Given the description of an element on the screen output the (x, y) to click on. 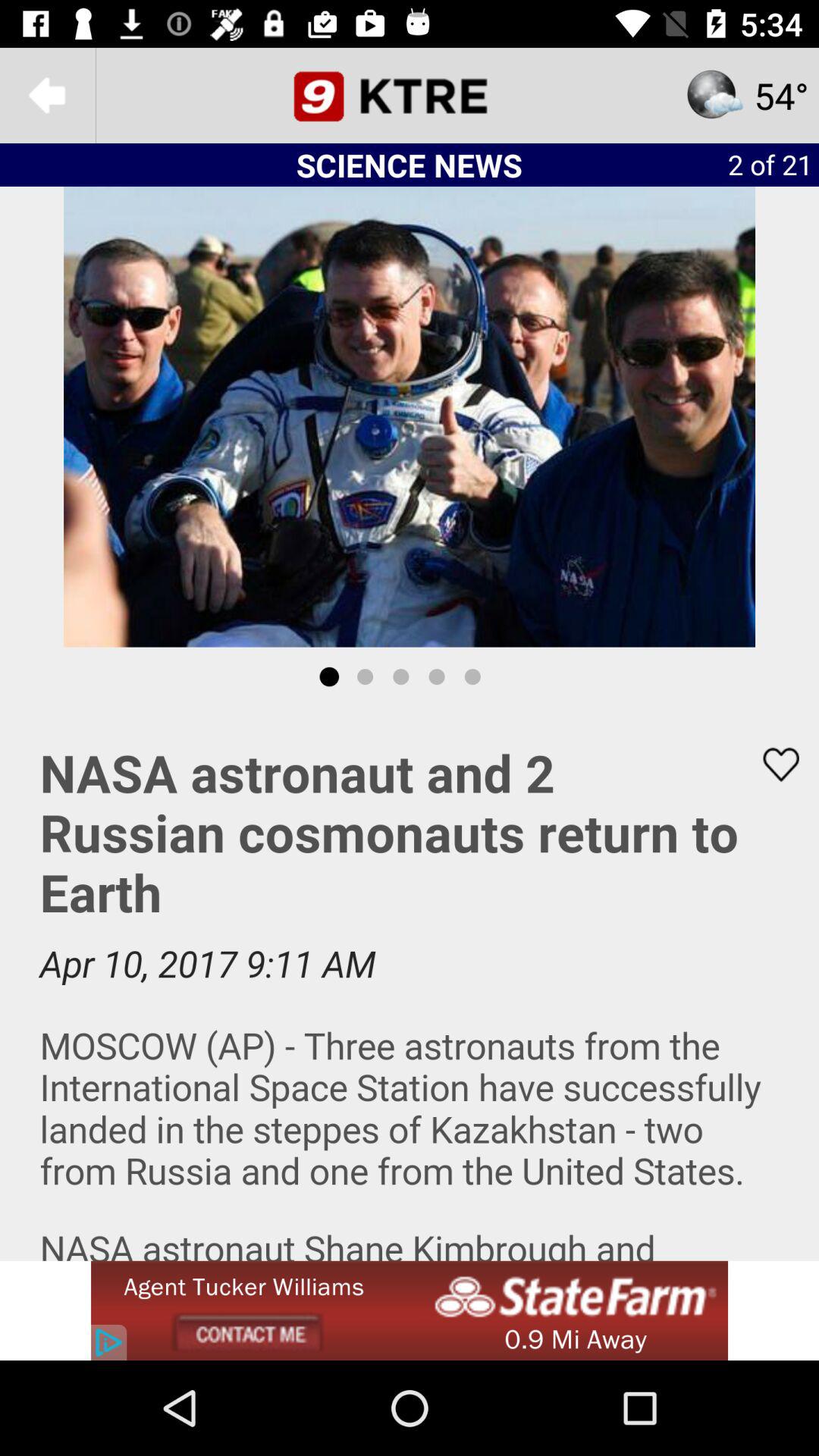
toggle favorites option (771, 764)
